Given the description of an element on the screen output the (x, y) to click on. 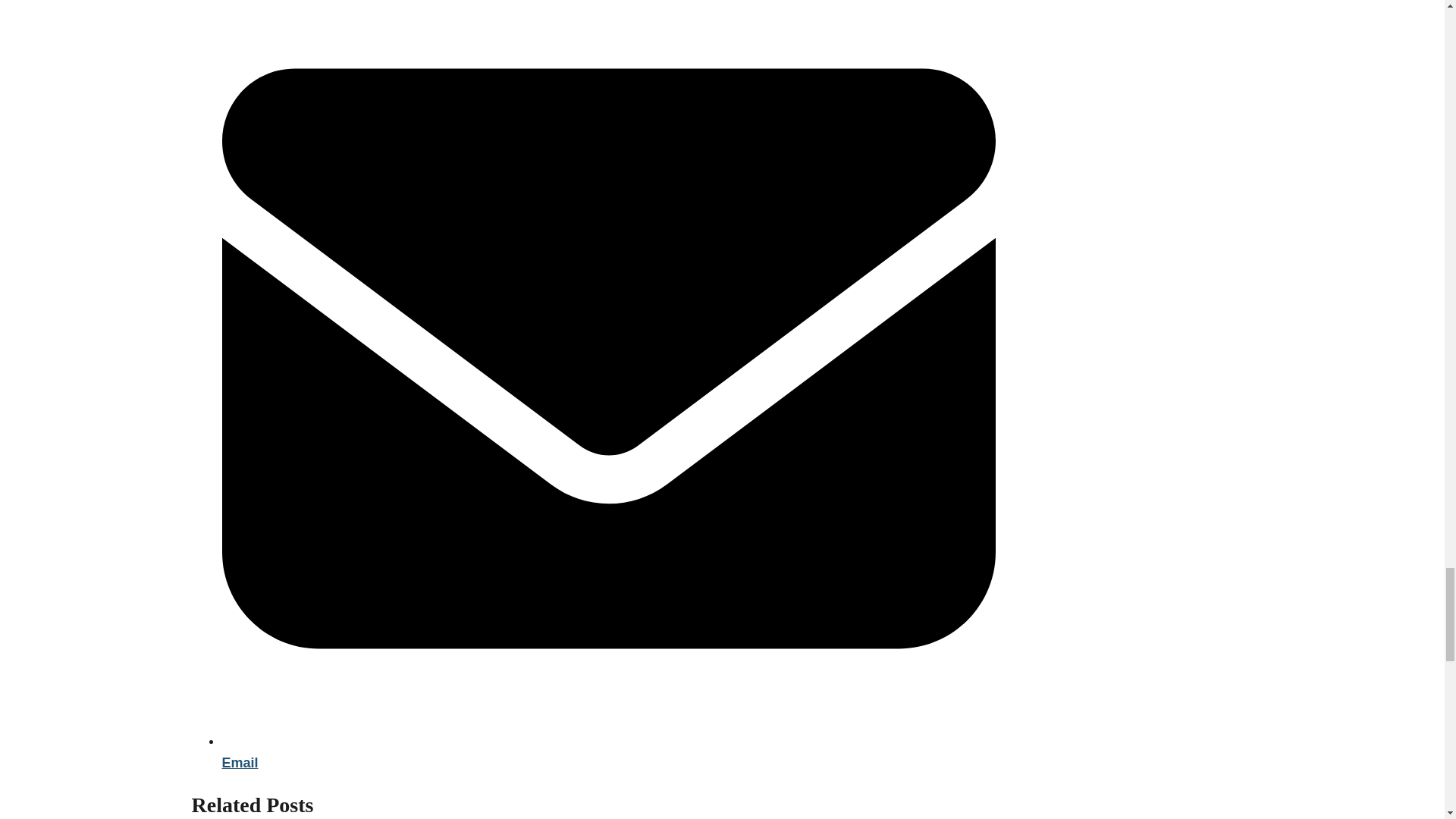
Email (607, 751)
